Given the description of an element on the screen output the (x, y) to click on. 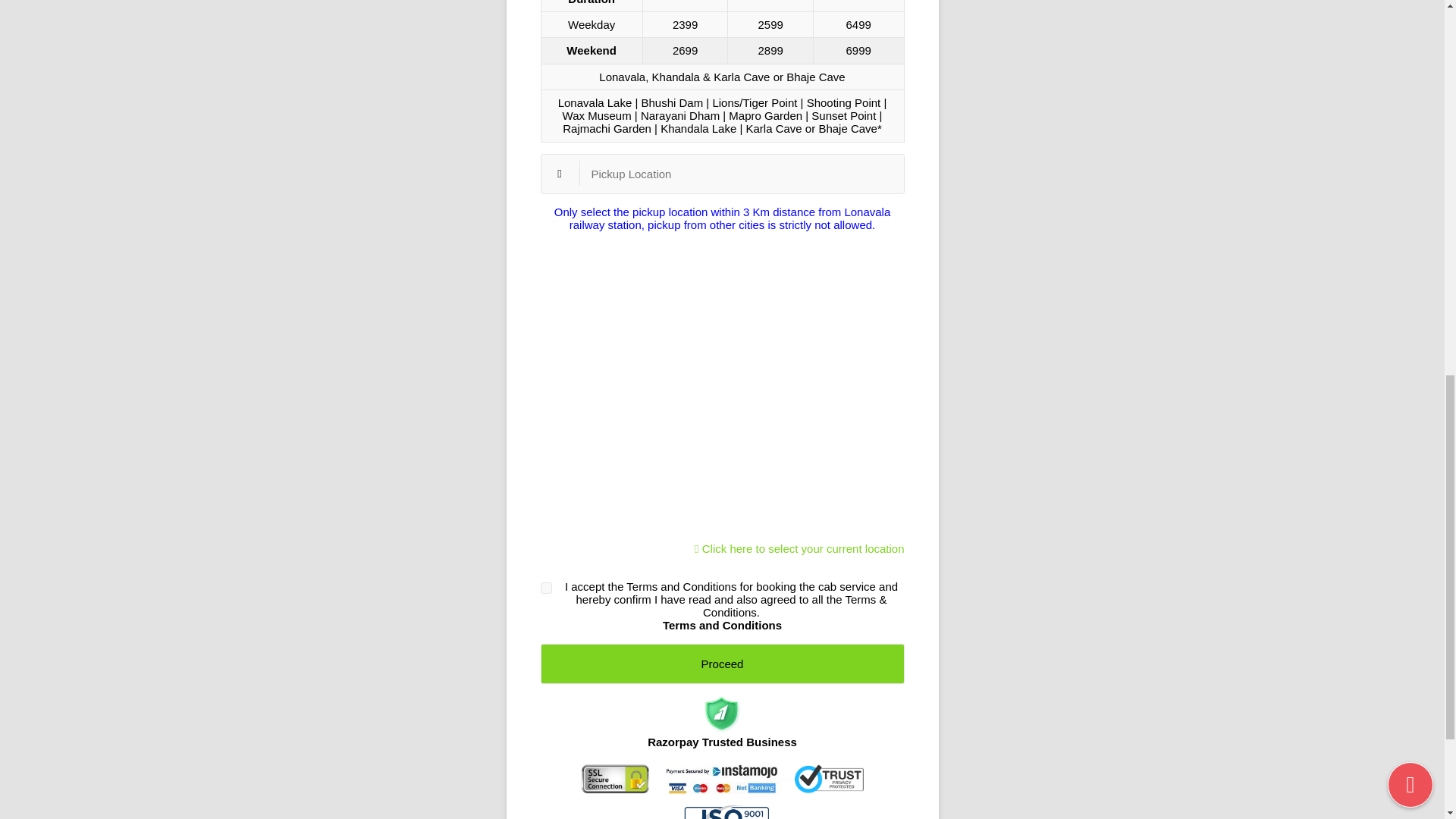
Proceed (722, 663)
